Given the description of an element on the screen output the (x, y) to click on. 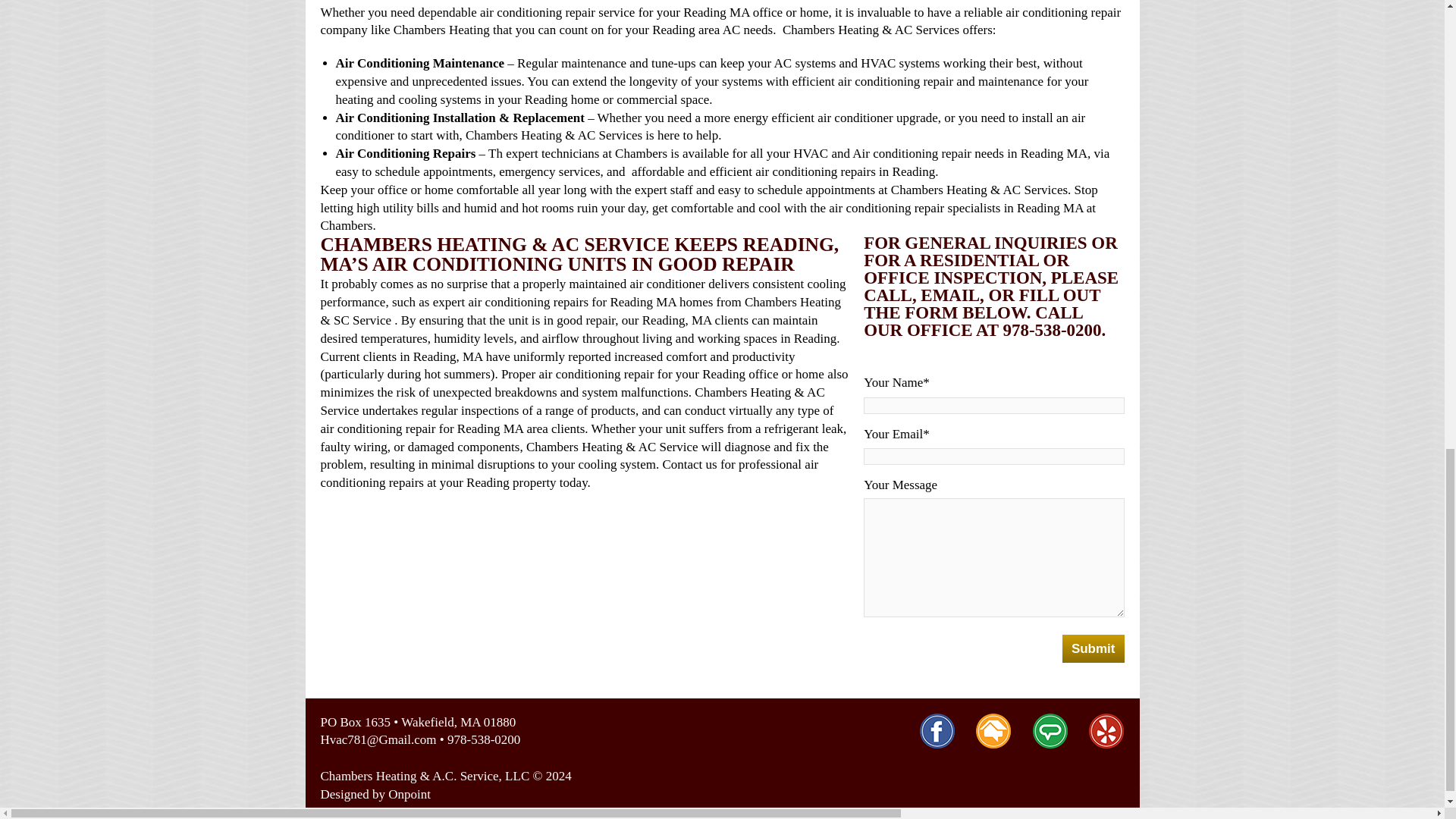
978-538-0200 (482, 739)
Designed by Onpoint (374, 794)
Submit (1093, 648)
Submit (1093, 648)
